Given the description of an element on the screen output the (x, y) to click on. 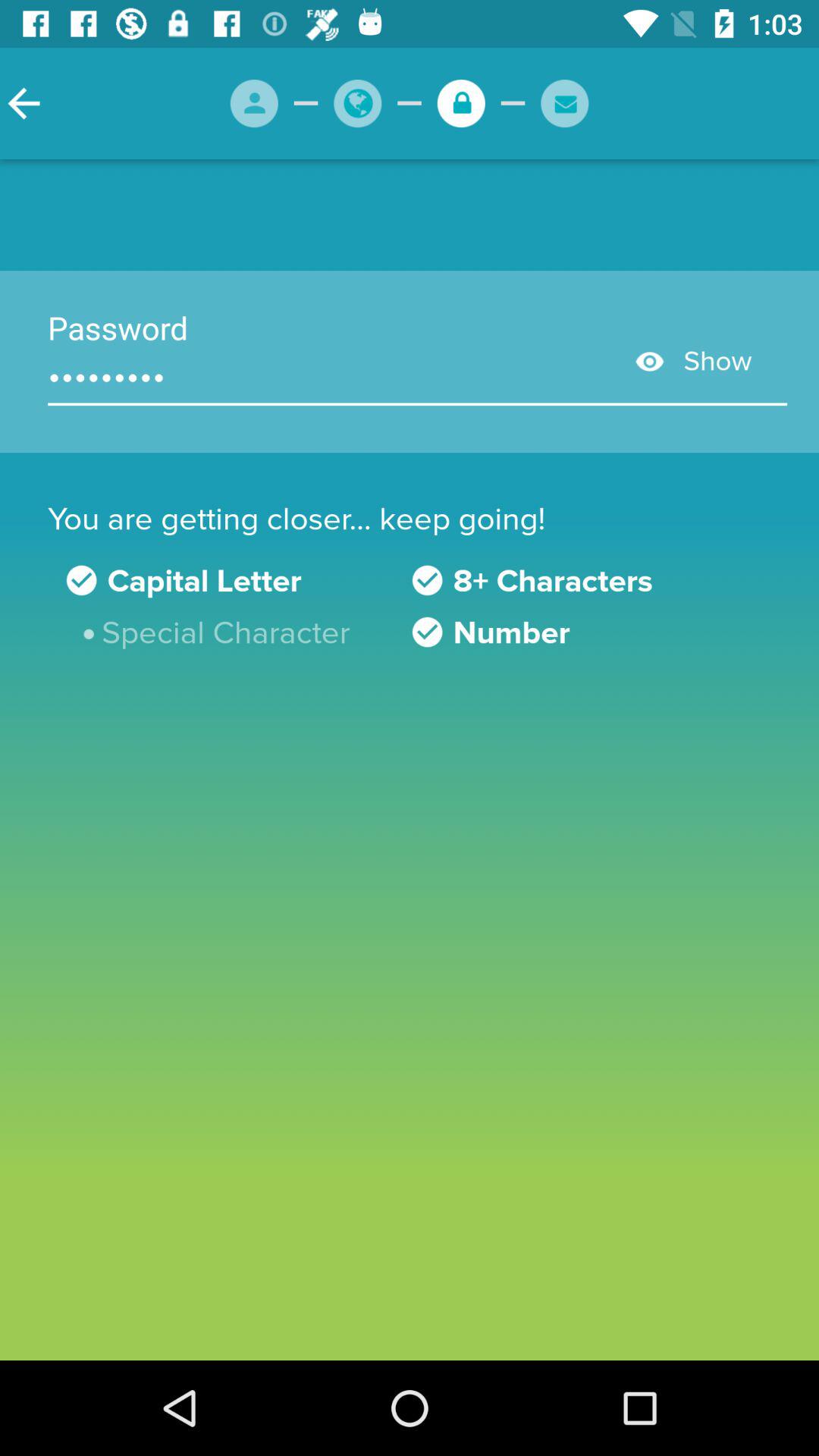
go to previous (23, 103)
